Given the description of an element on the screen output the (x, y) to click on. 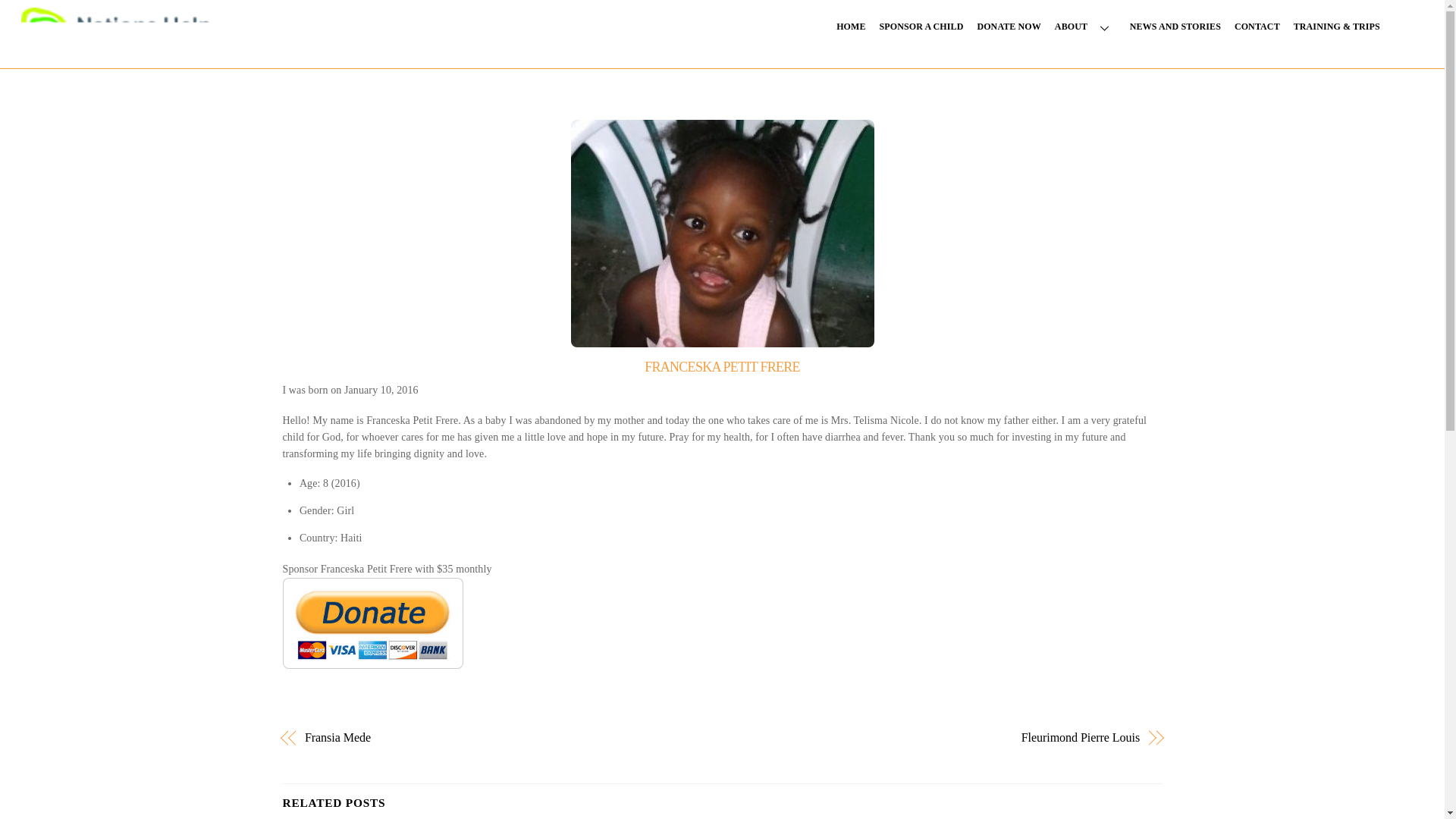
Nations Help (116, 41)
Widgets (1408, 22)
ABOUT (1085, 26)
DONATE NOW (1008, 26)
CONTACT (1256, 26)
SPONSOR A CHILD (920, 26)
Fleurimond Pierre Louis (944, 737)
NEWS AND STORIES (1174, 26)
HOME (850, 26)
Fransia Mede (499, 737)
Franceska Petit Frere (721, 233)
